Given the description of an element on the screen output the (x, y) to click on. 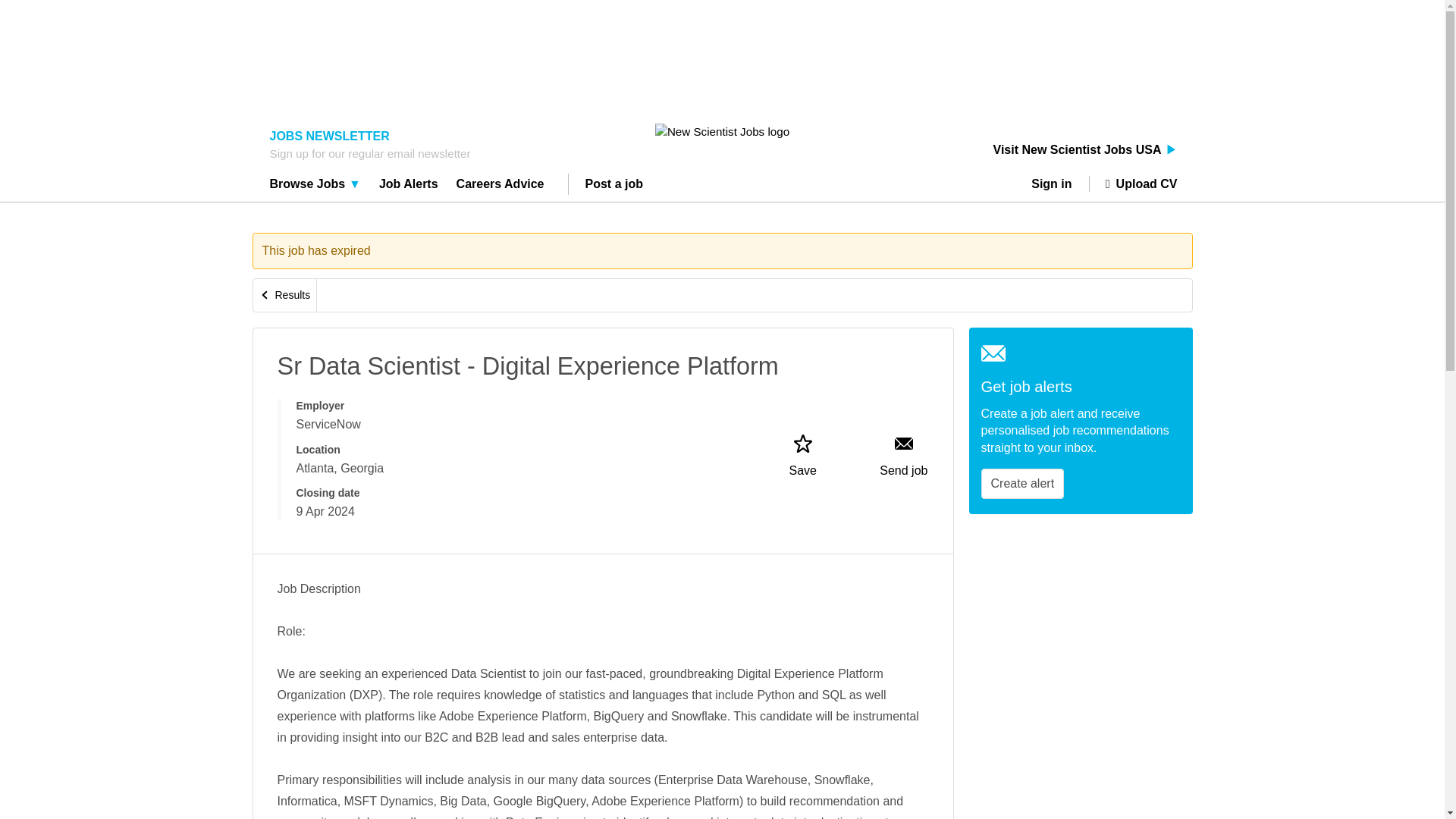
Sign in (1057, 183)
Post a job (614, 186)
Careers Advice (500, 186)
New Scientist Jobs (722, 131)
Job Alerts (409, 186)
Results (285, 295)
Visit New Scientist Jobs USA (1084, 149)
Upload CV (1133, 183)
